Given the description of an element on the screen output the (x, y) to click on. 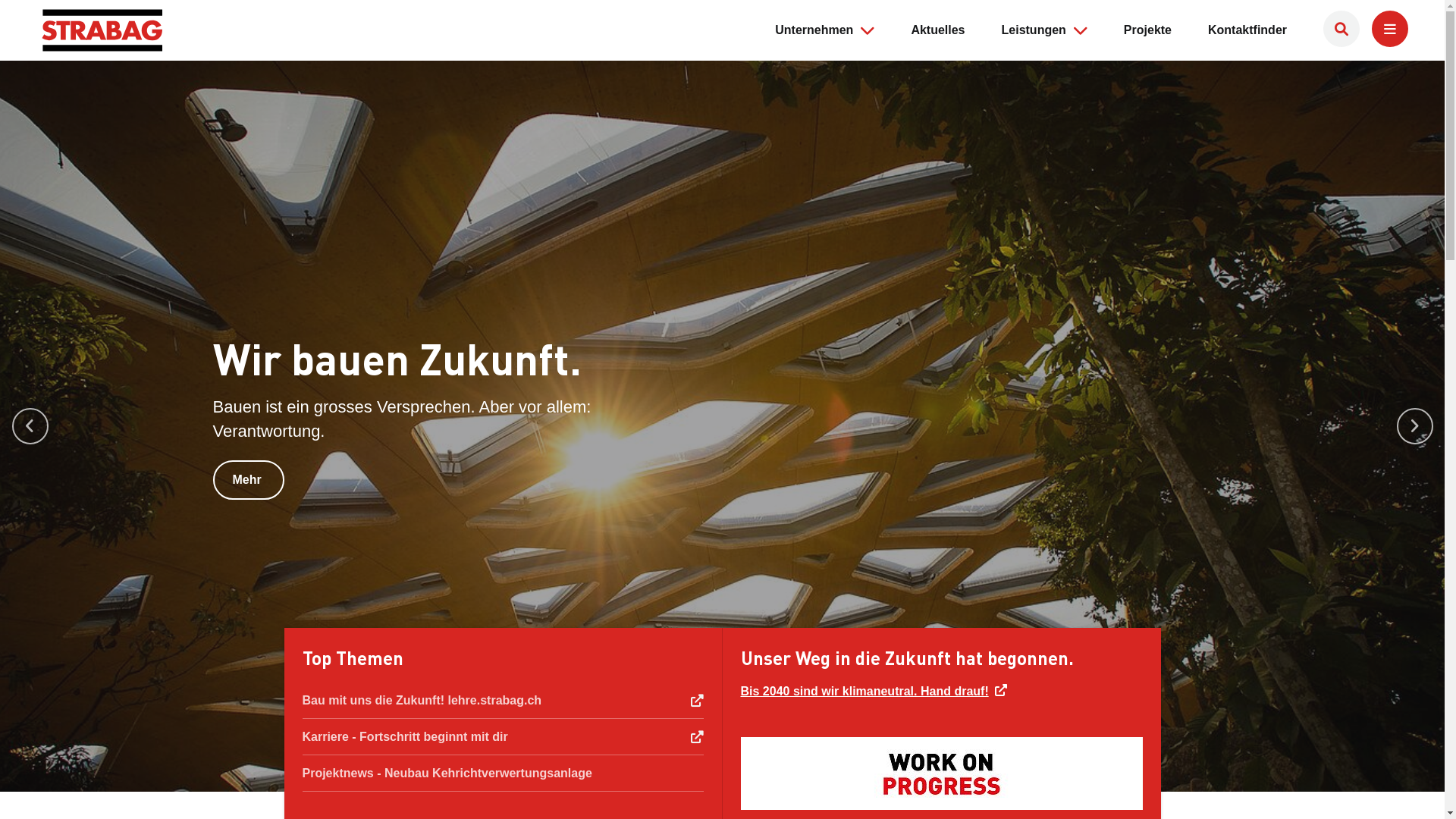
Bis 2040 sind wir klimaneutral. Hand drauf! Element type: text (873, 691)
Leistungen Element type: text (1033, 29)
Karriere - Fortschritt beginnt mit dir Element type: text (501, 737)
Aktuelles Element type: text (937, 39)
Kontaktfinder Element type: text (1247, 39)
Mehr  Element type: text (248, 479)
Unternehmen Element type: text (814, 29)
Bau mit uns die Zukunft! lehre.strabag.ch Element type: text (501, 700)
Projektnews - Neubau Kehrichtverwertungsanlage  Element type: text (501, 773)
Projekte Element type: text (1147, 39)
